Given the description of an element on the screen output the (x, y) to click on. 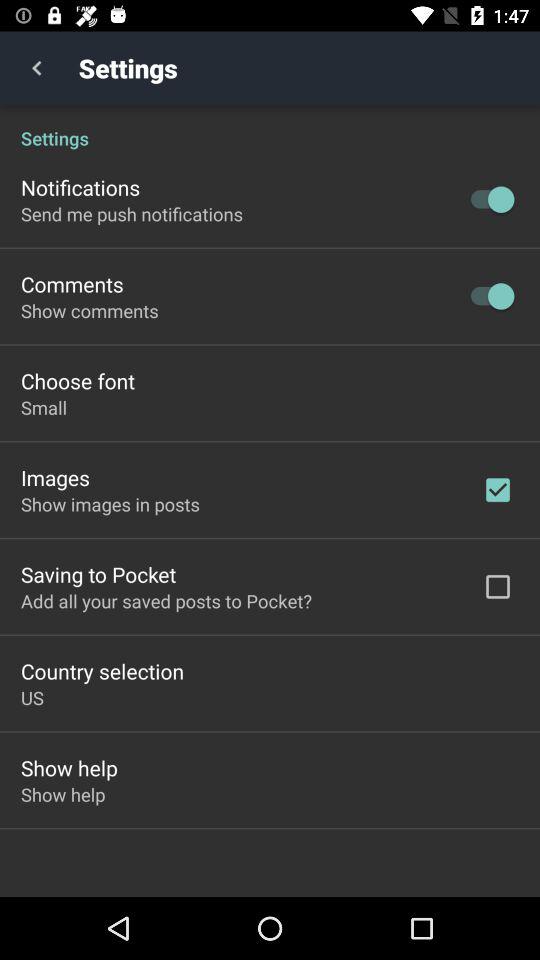
jump to the choose font item (78, 380)
